Given the description of an element on the screen output the (x, y) to click on. 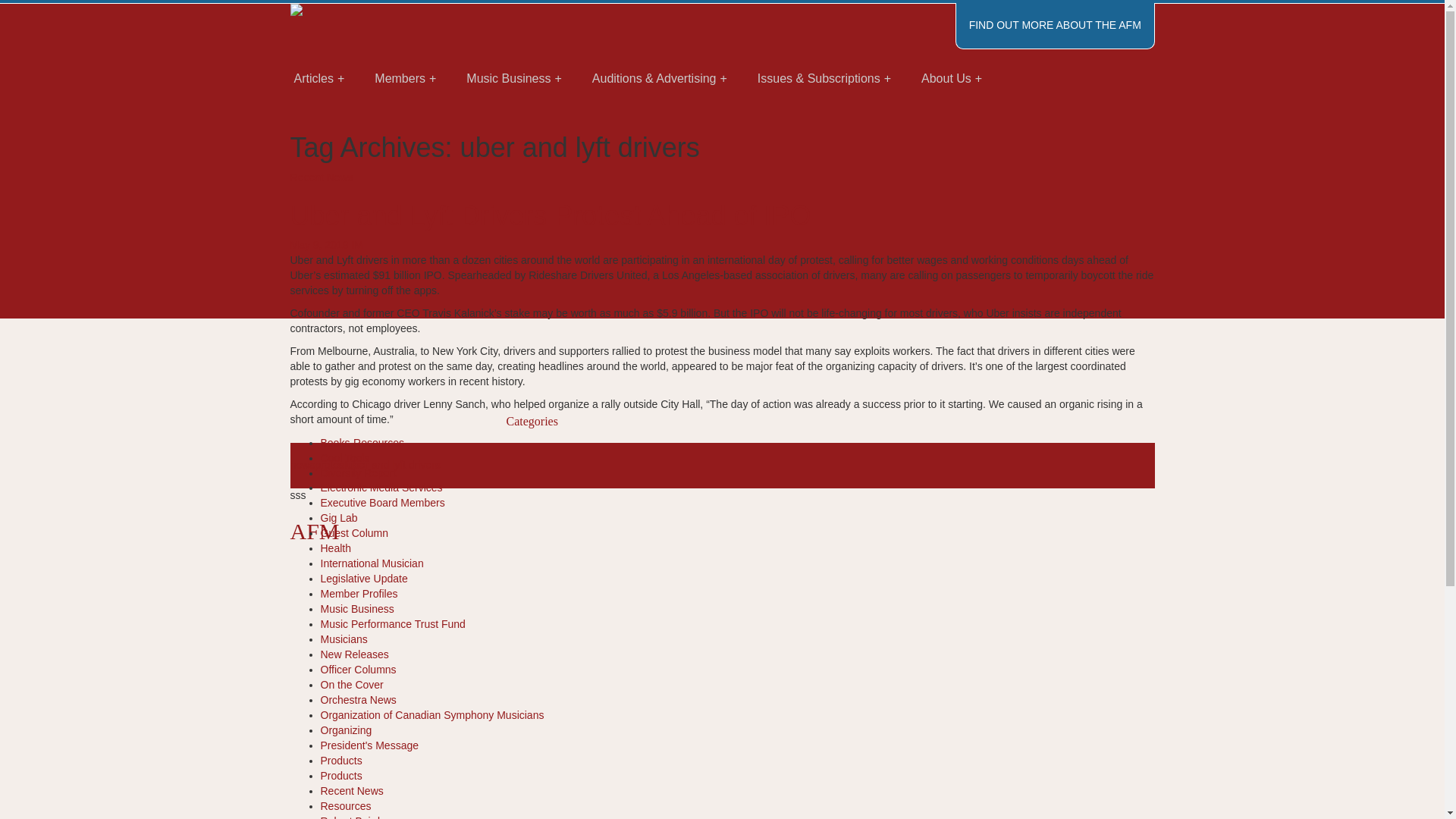
About Us (951, 78)
Articles (319, 78)
Members (405, 78)
Music Business (513, 78)
